Given the description of an element on the screen output the (x, y) to click on. 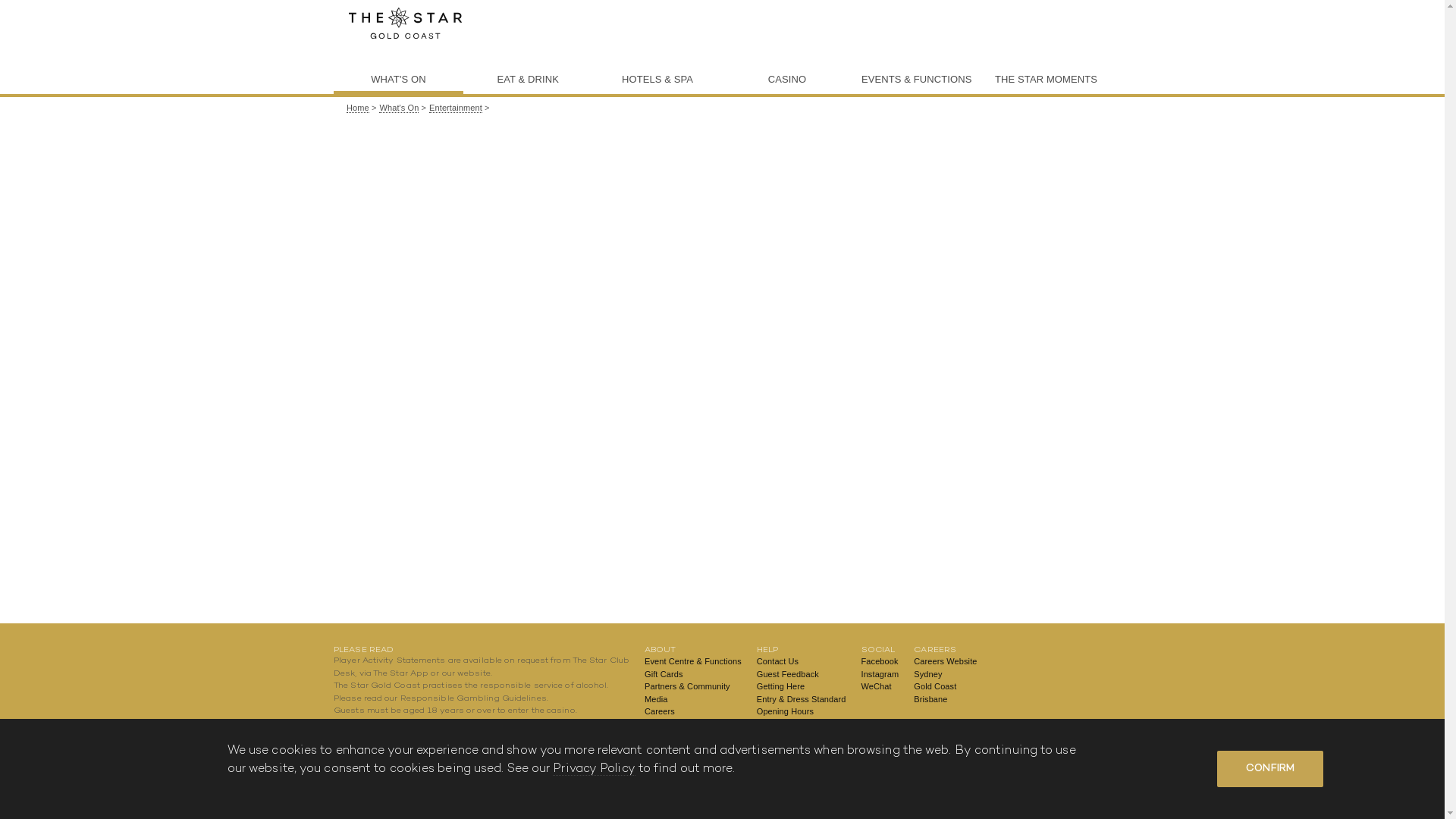
Sydney Element type: text (944, 674)
Transformation Element type: text (692, 736)
Casino Gaming Rule Element type: text (801, 736)
WHAT'S ON Element type: text (398, 79)
Careers Element type: text (692, 711)
HOTELS & SPA Element type: text (657, 79)
Terms of Use Element type: text (801, 774)
Responsible Gambling Guidelines Element type: text (473, 698)
What's On Element type: text (398, 107)
Event Centre & Functions Element type: text (692, 661)
Home Element type: hover (405, 21)
Guest Feedback Element type: text (801, 674)
CASINO Element type: text (786, 79)
Privacy Policy Element type: text (801, 724)
Media Element type: text (692, 699)
Gift Cards Element type: text (692, 674)
CONFIRM Element type: text (1270, 768)
Brisbane Element type: text (944, 699)
Entertainment Element type: text (455, 107)
Gold Coast Element type: text (944, 686)
Instagram Element type: text (880, 674)
Opening Hours Element type: text (801, 711)
Queen's Wharf Brisbane Element type: text (692, 749)
Entry & Dress Standard Element type: text (801, 699)
THE STAR MOMENTS Element type: text (1045, 79)
Facebook Element type: text (880, 661)
www.gamblinghelpqld.org.au Element type: text (394, 748)
Contact Us Element type: text (801, 661)
Safer Gambling Element type: text (801, 761)
Careers Website Element type: text (944, 661)
Home Element type: text (357, 107)
Getting Here Element type: text (801, 686)
Privacy Policy Element type: text (593, 768)
WeChat Element type: text (880, 686)
StarCare Element type: text (801, 749)
EVENTS & FUNCTIONS Element type: text (916, 79)
1800 858 858 Element type: text (446, 735)
Environment Element type: text (692, 724)
Partners & Community Element type: text (692, 686)
Skip to main content Element type: text (61, 0)
EAT & DRINK Element type: text (528, 79)
